Given the description of an element on the screen output the (x, y) to click on. 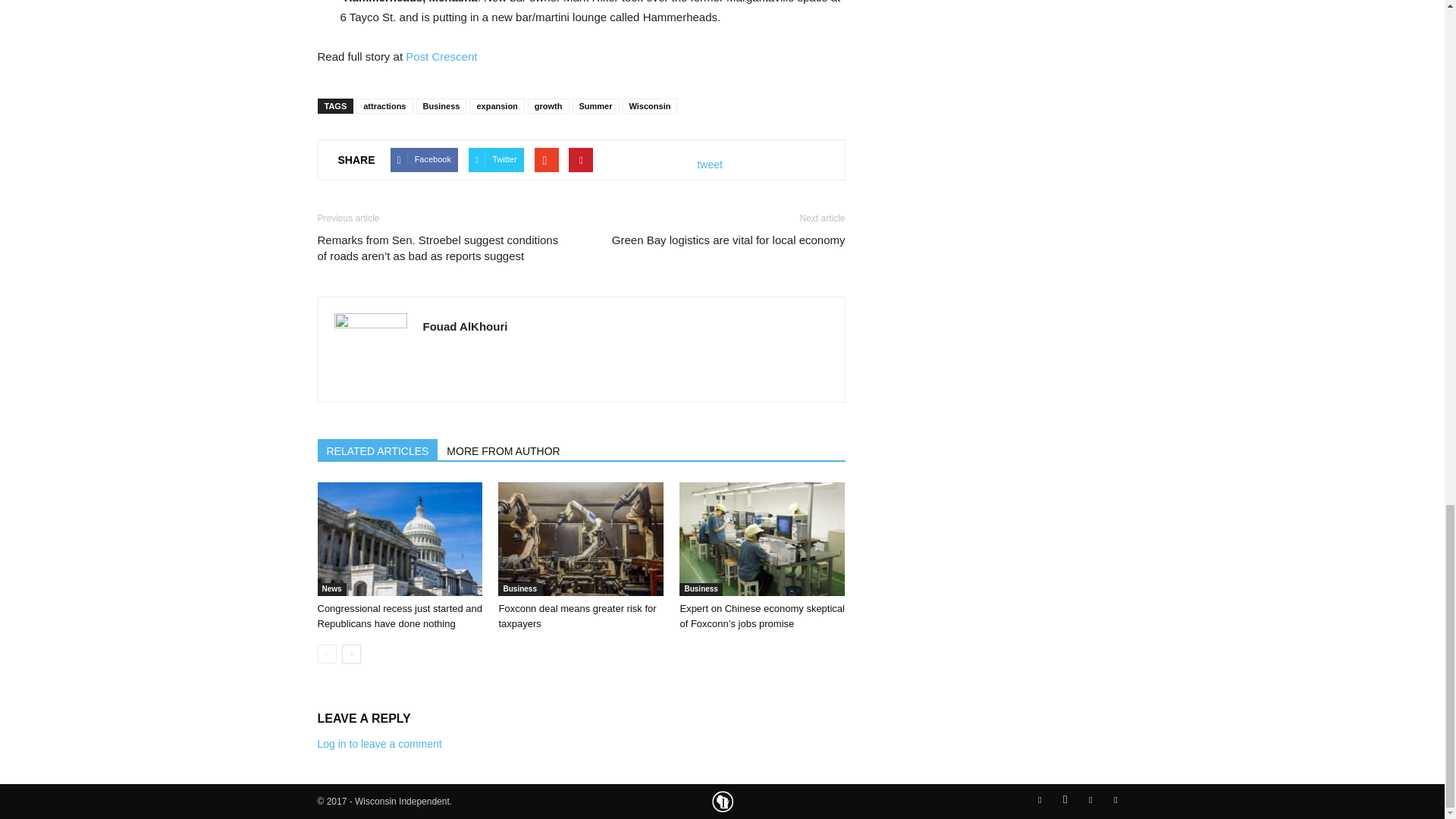
Foxconn deal means greater risk for taxpayers (576, 615)
Foxconn deal means greater risk for taxpayers (580, 539)
